Given the description of an element on the screen output the (x, y) to click on. 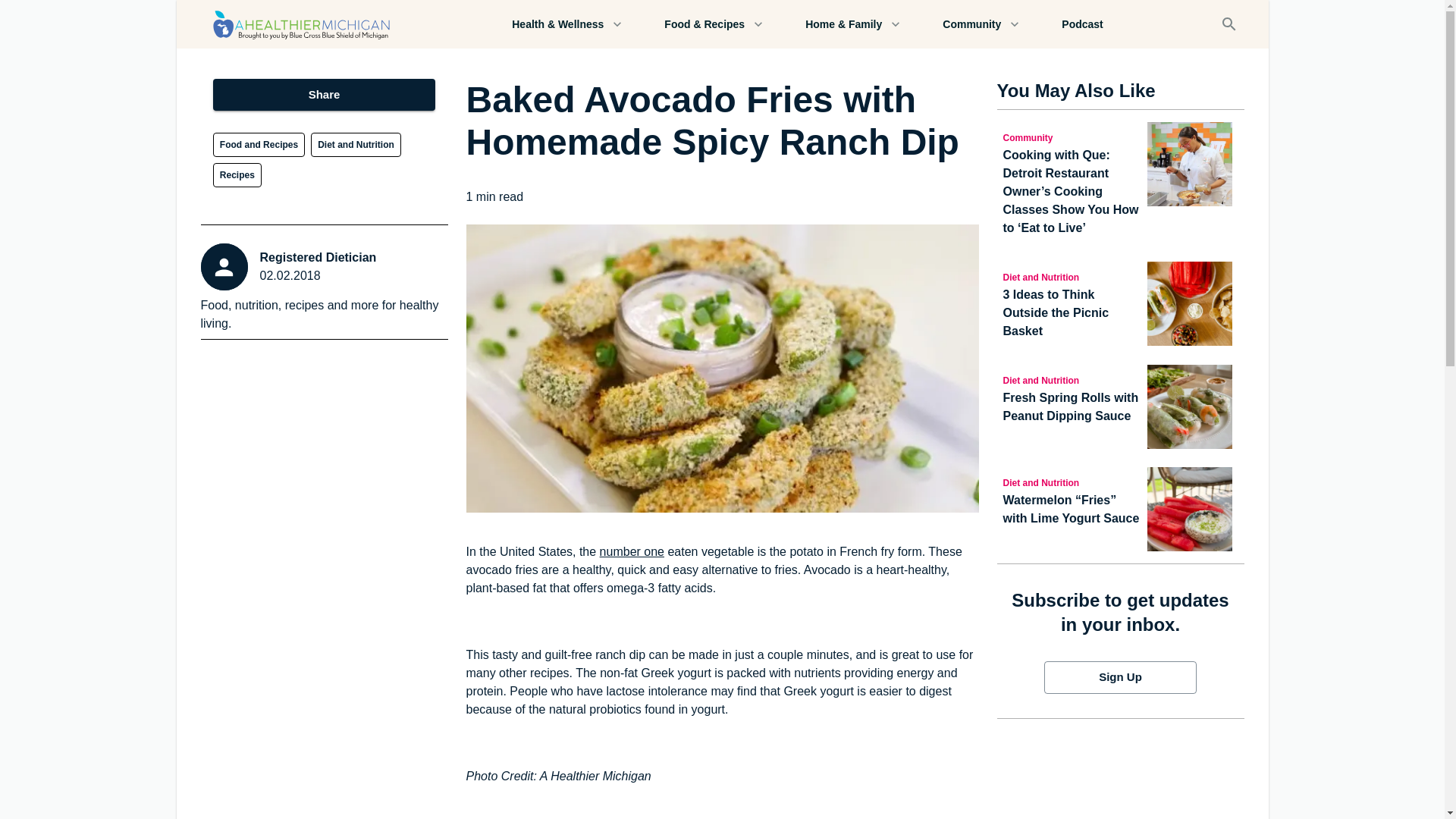
Community (1072, 136)
Registered Dietician (317, 257)
Podcast (1081, 24)
Recipes (237, 174)
Share (323, 94)
3 Ideas to Think Outside the Picnic Basket (1072, 312)
Diet and Nutrition (356, 144)
Sign Up (1119, 676)
Diet and Nutrition (1072, 276)
Fresh Spring Rolls with Peanut Dipping Sauce (1072, 407)
Diet and Nutrition (1072, 380)
number one (631, 551)
Diet and Nutrition (1072, 482)
Community (980, 24)
Food and Recipes (258, 144)
